Given the description of an element on the screen output the (x, y) to click on. 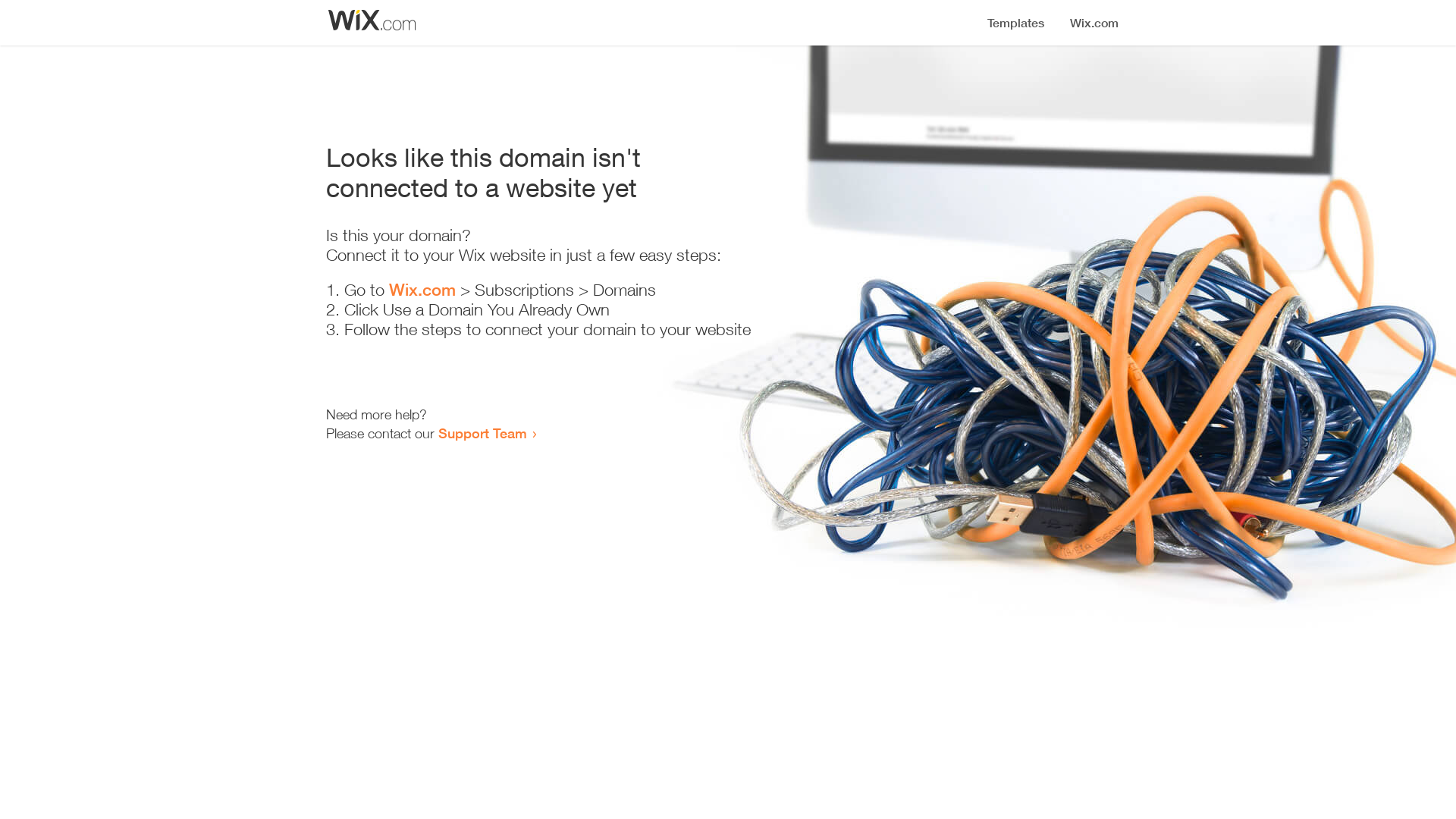
Support Team Element type: text (482, 432)
Wix.com Element type: text (422, 289)
